Given the description of an element on the screen output the (x, y) to click on. 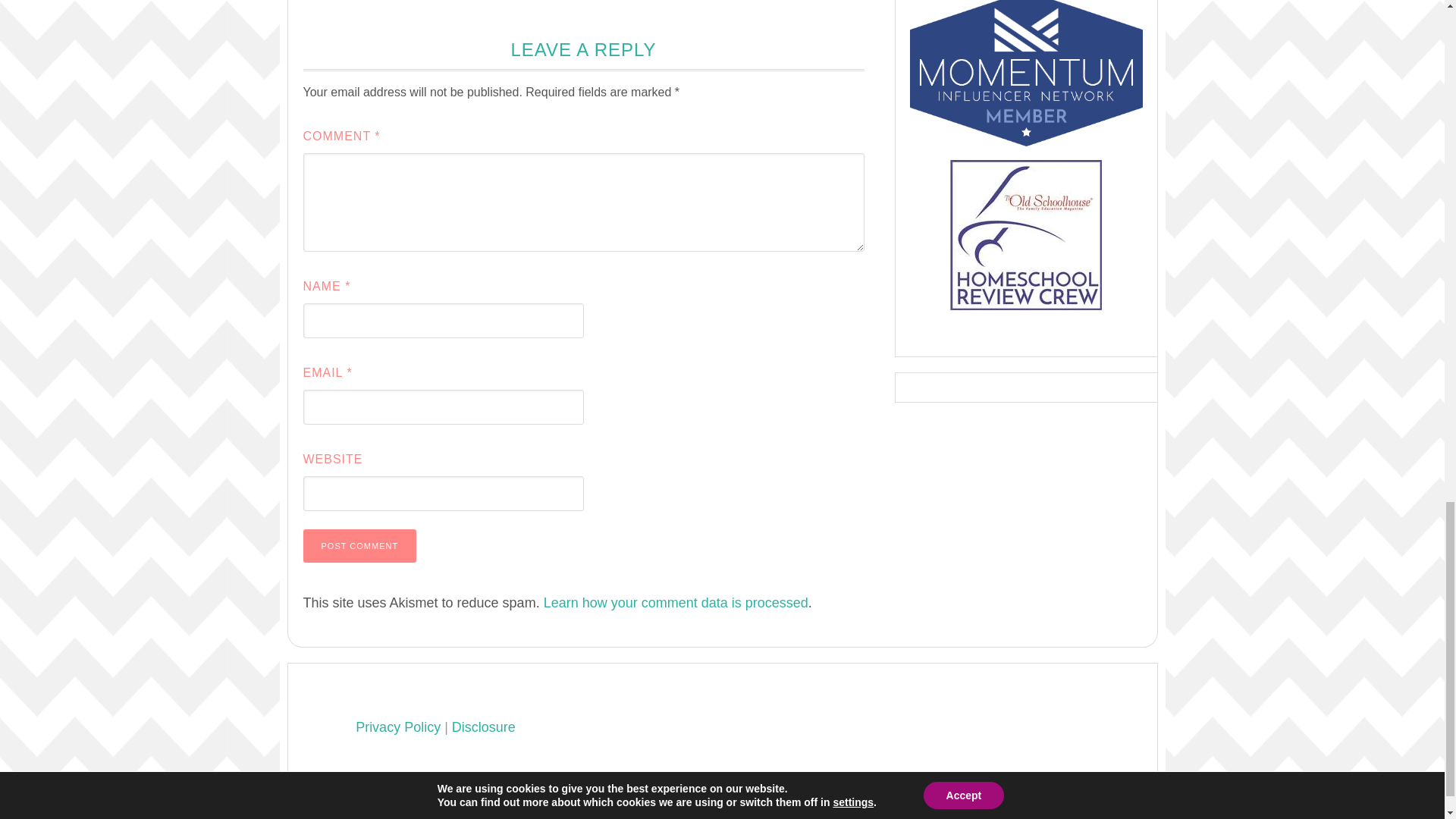
Post Comment (359, 545)
Post Comment (359, 545)
Learn how your comment data is processed (675, 602)
